Given the description of an element on the screen output the (x, y) to click on. 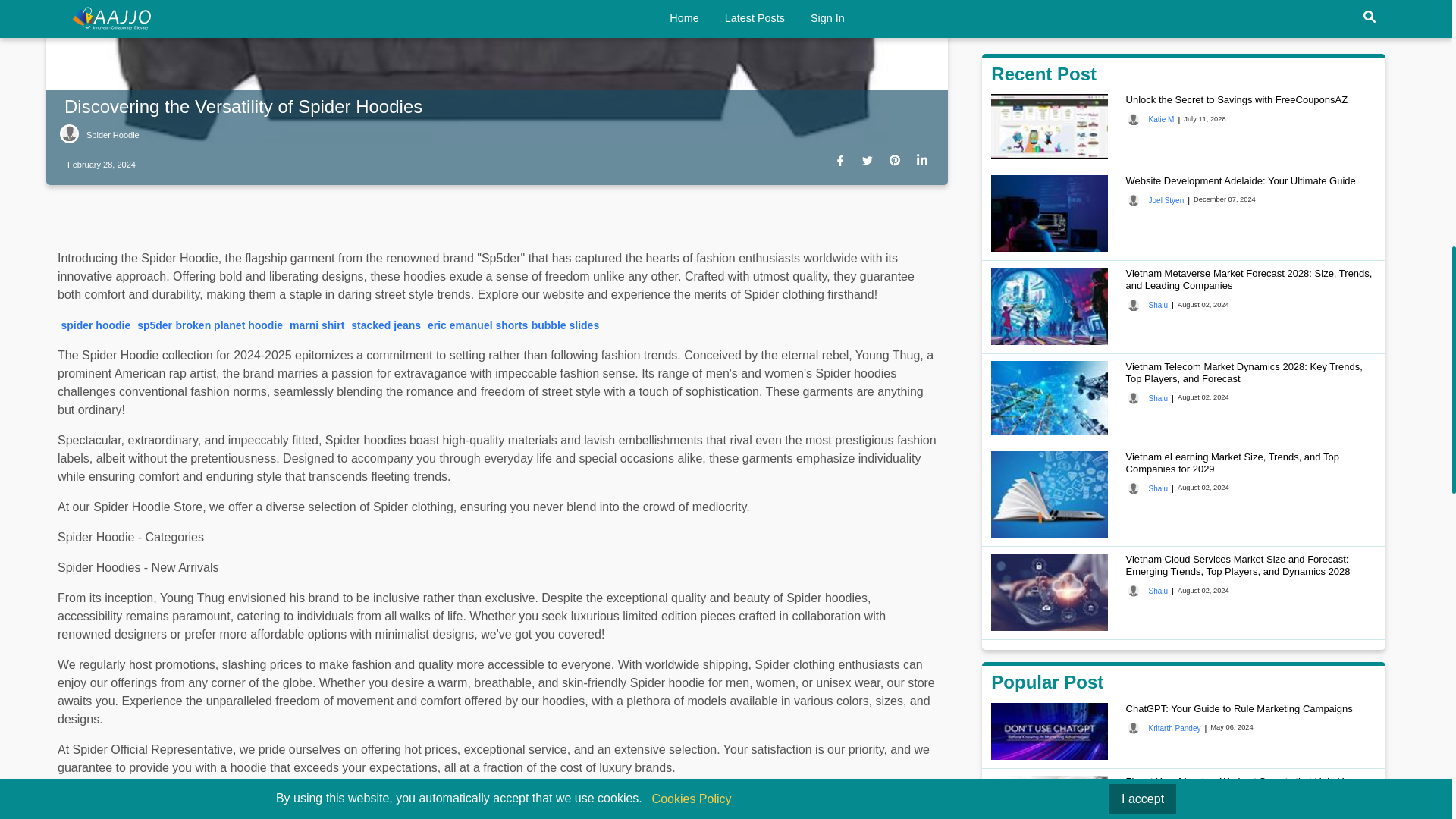
marni shirt (316, 325)
spider hoodie (96, 325)
Spider Hoodie (99, 135)
sp5der (153, 325)
stacked jeans (385, 325)
Linkedin (924, 161)
bubble slides (564, 325)
eric emanuel shorts (477, 325)
pinterest (897, 161)
broken planet hoodie (229, 325)
twitter (870, 161)
facebook (842, 161)
